Given the description of an element on the screen output the (x, y) to click on. 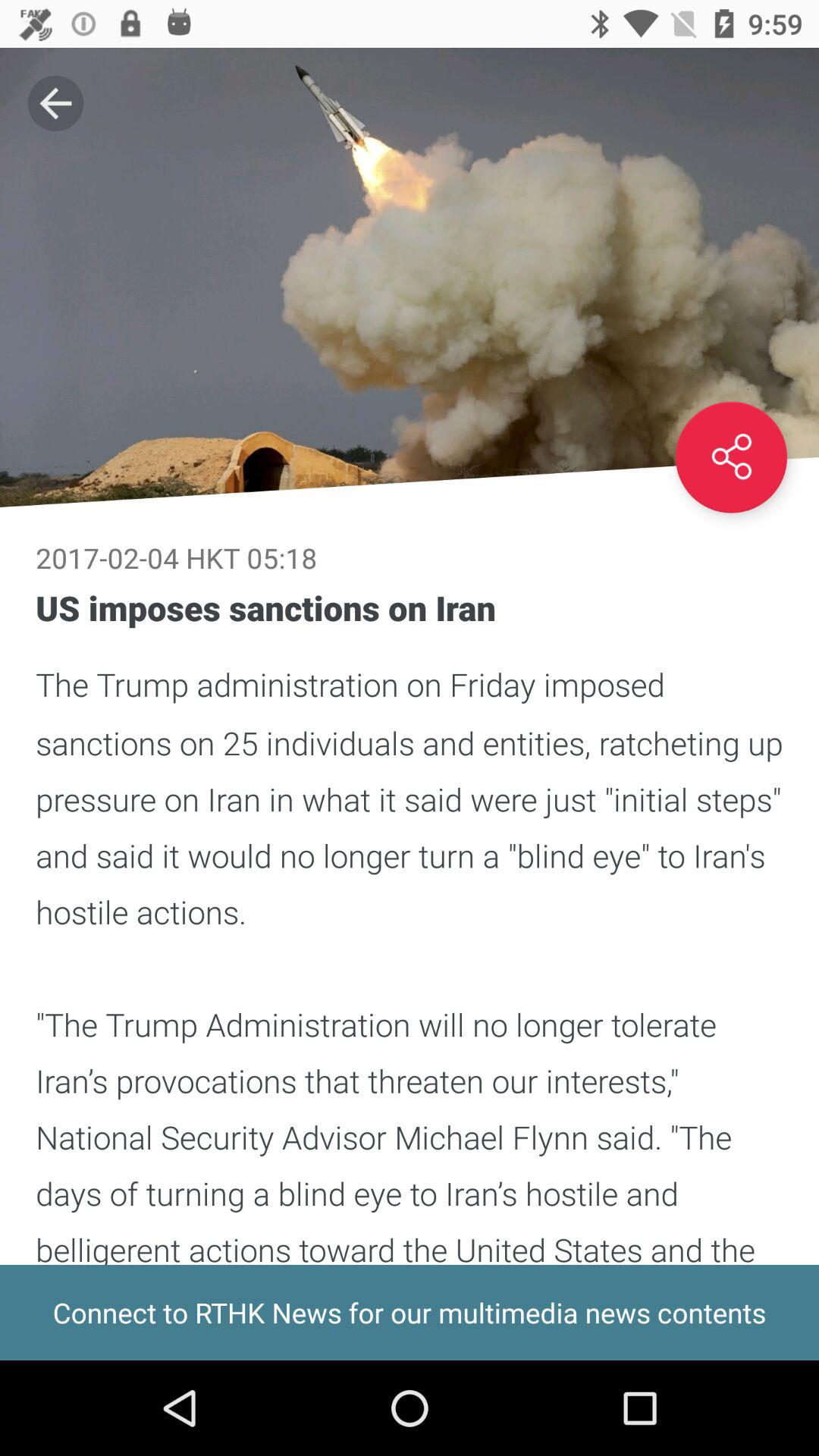
open item at the top right corner (731, 457)
